Given the description of an element on the screen output the (x, y) to click on. 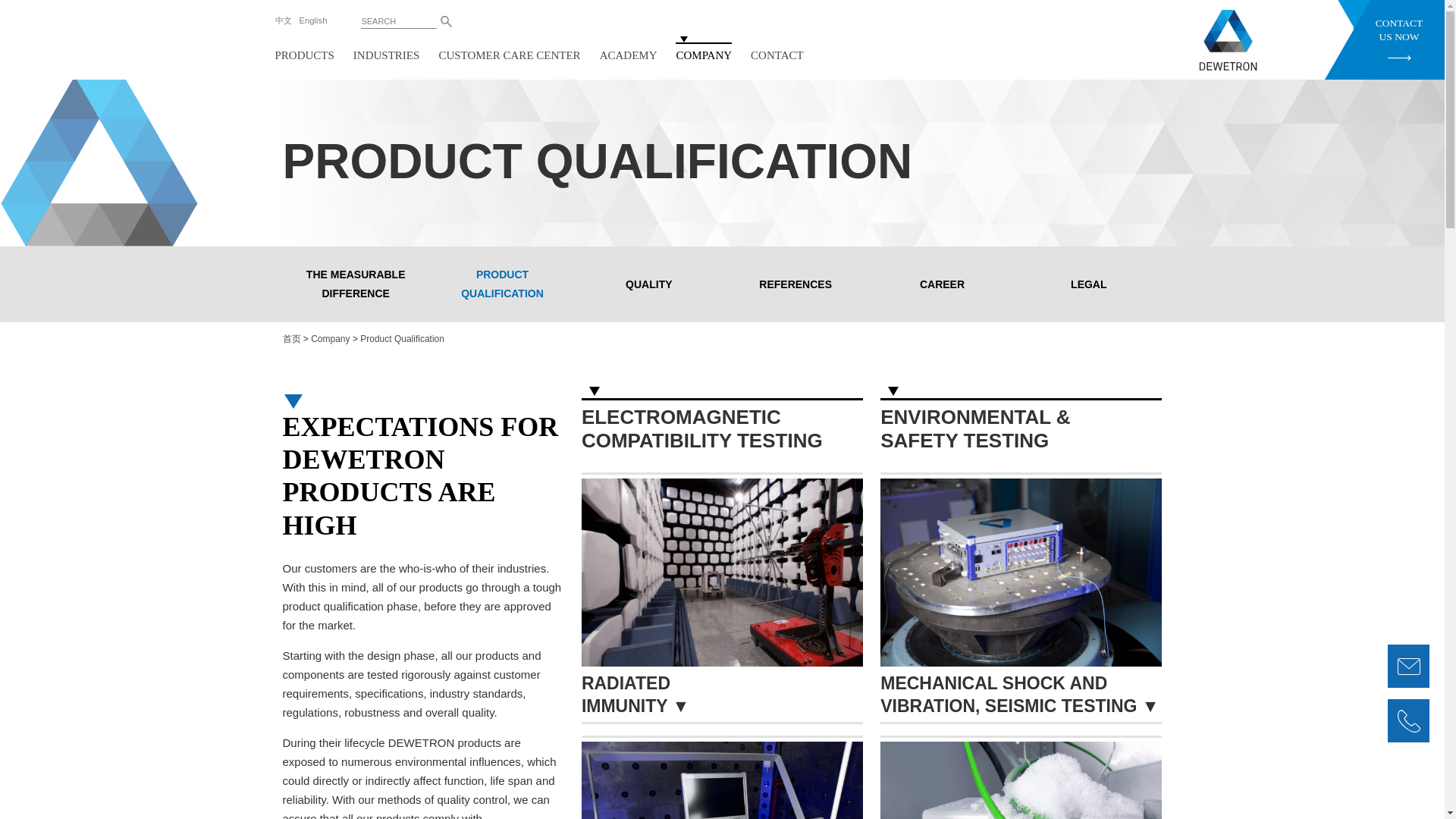
PRODUCTS (304, 54)
CONTACT (777, 54)
English (314, 20)
COMPANY (703, 54)
ACADEMY (628, 54)
search (448, 20)
CUSTOMER CARE CENTER (508, 54)
search (448, 20)
INDUSTRIES (386, 54)
